Given the description of an element on the screen output the (x, y) to click on. 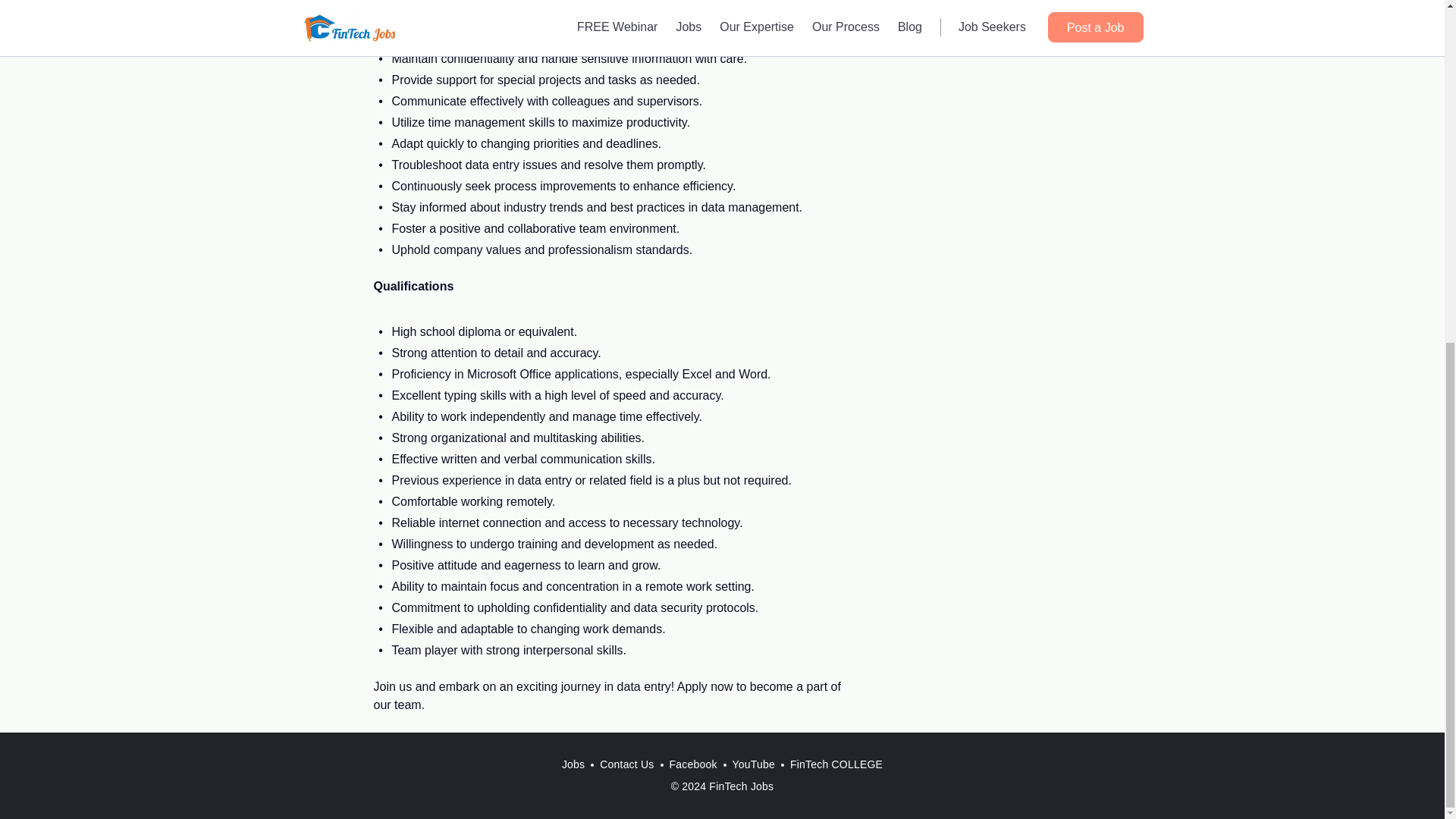
YouTube (754, 764)
FinTech COLLEGE (836, 764)
Facebook (693, 764)
Jobs (573, 764)
Contact Us (626, 764)
